Given the description of an element on the screen output the (x, y) to click on. 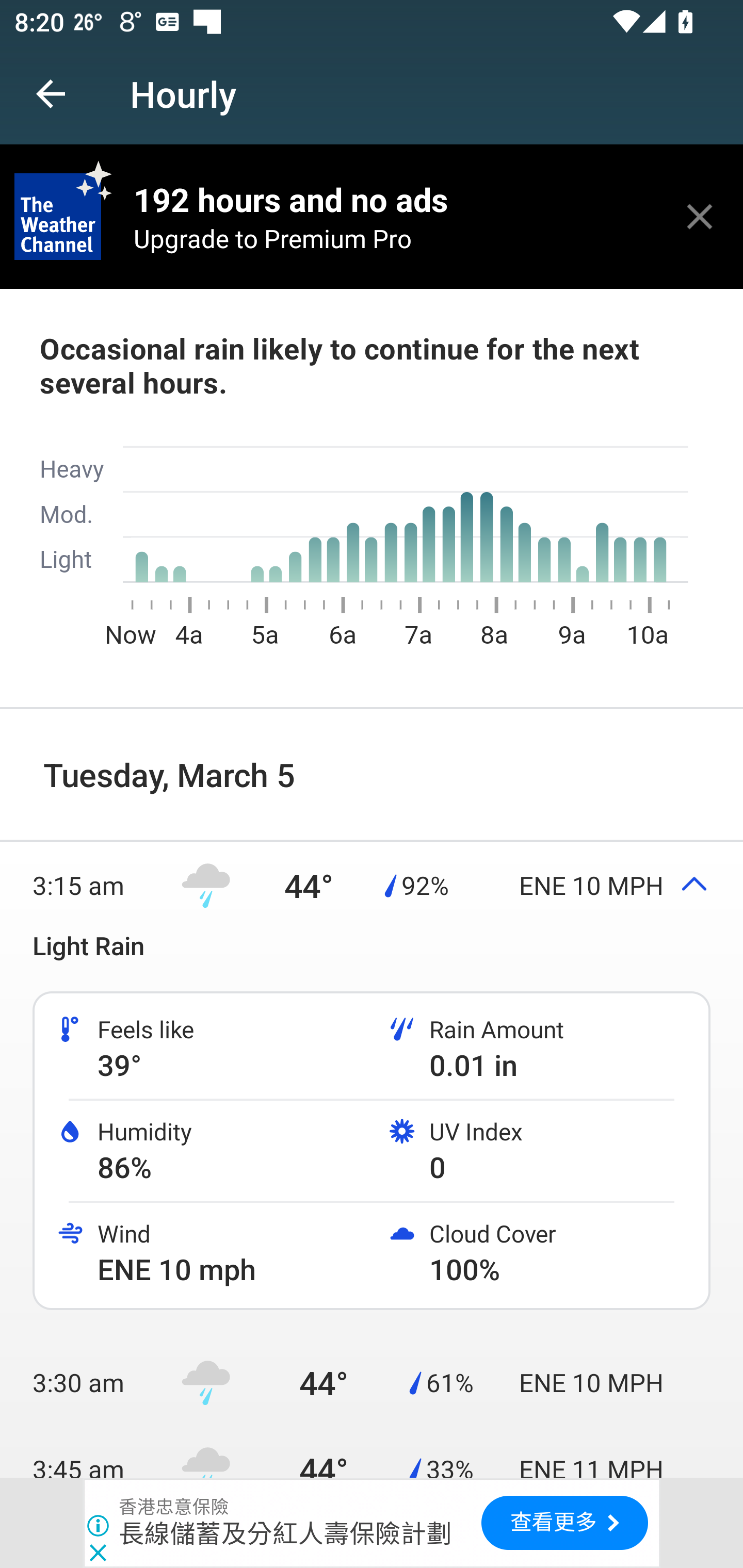
Navigate up (50, 93)
close this (699, 216)
3:15 am 44° 92% ENE 10 MPH (371, 885)
香港忠意保險 (174, 1507)
查看更多 (564, 1522)
長線儲蓄及分紅人壽保險計劃 (285, 1533)
